Given the description of an element on the screen output the (x, y) to click on. 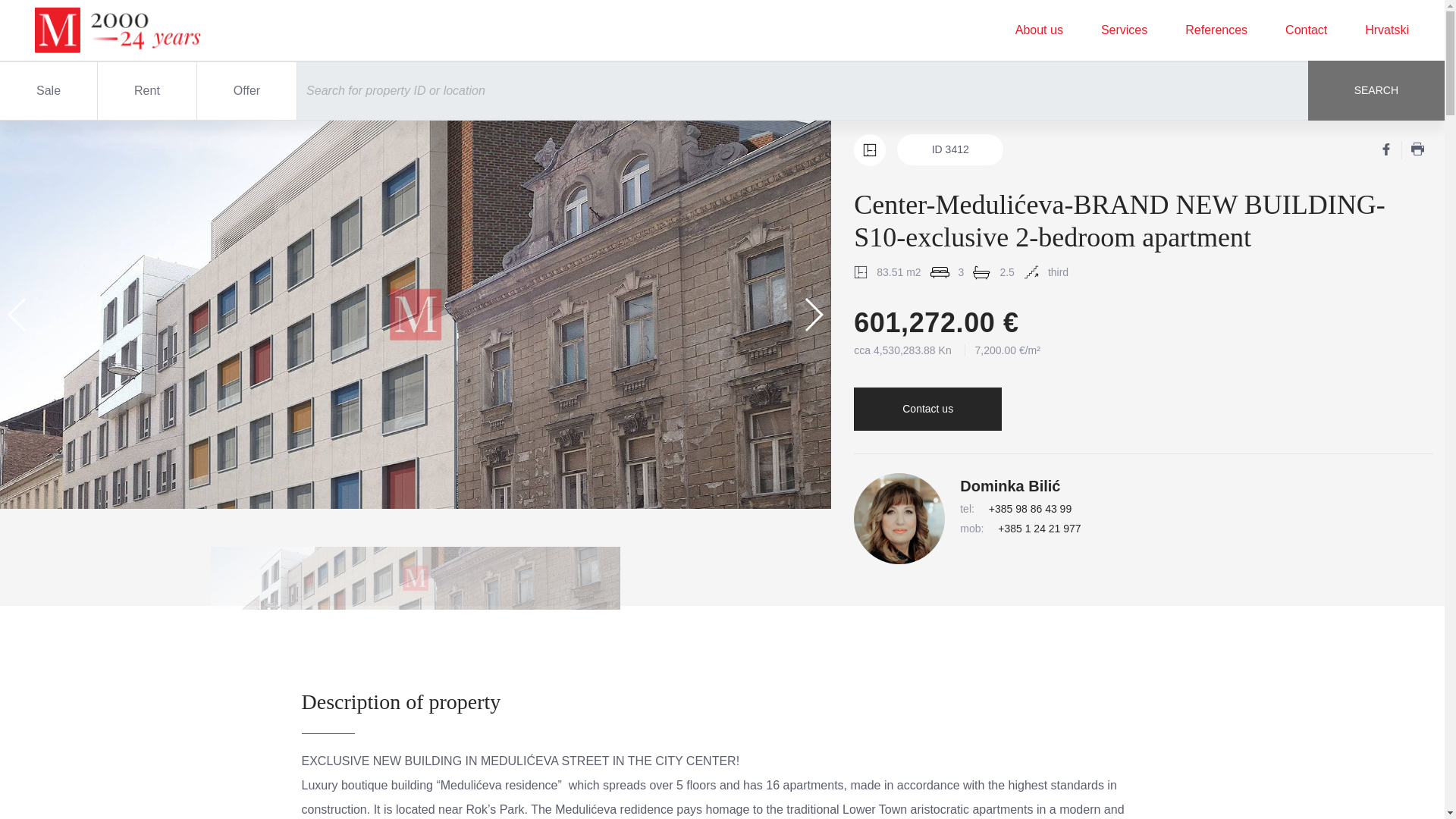
Sale (48, 90)
About us (1038, 29)
Offer (246, 90)
Services (1123, 29)
Contact (1305, 29)
Rent (146, 90)
Hrvatski (1386, 29)
References (1216, 29)
Contact us (927, 408)
